Given the description of an element on the screen output the (x, y) to click on. 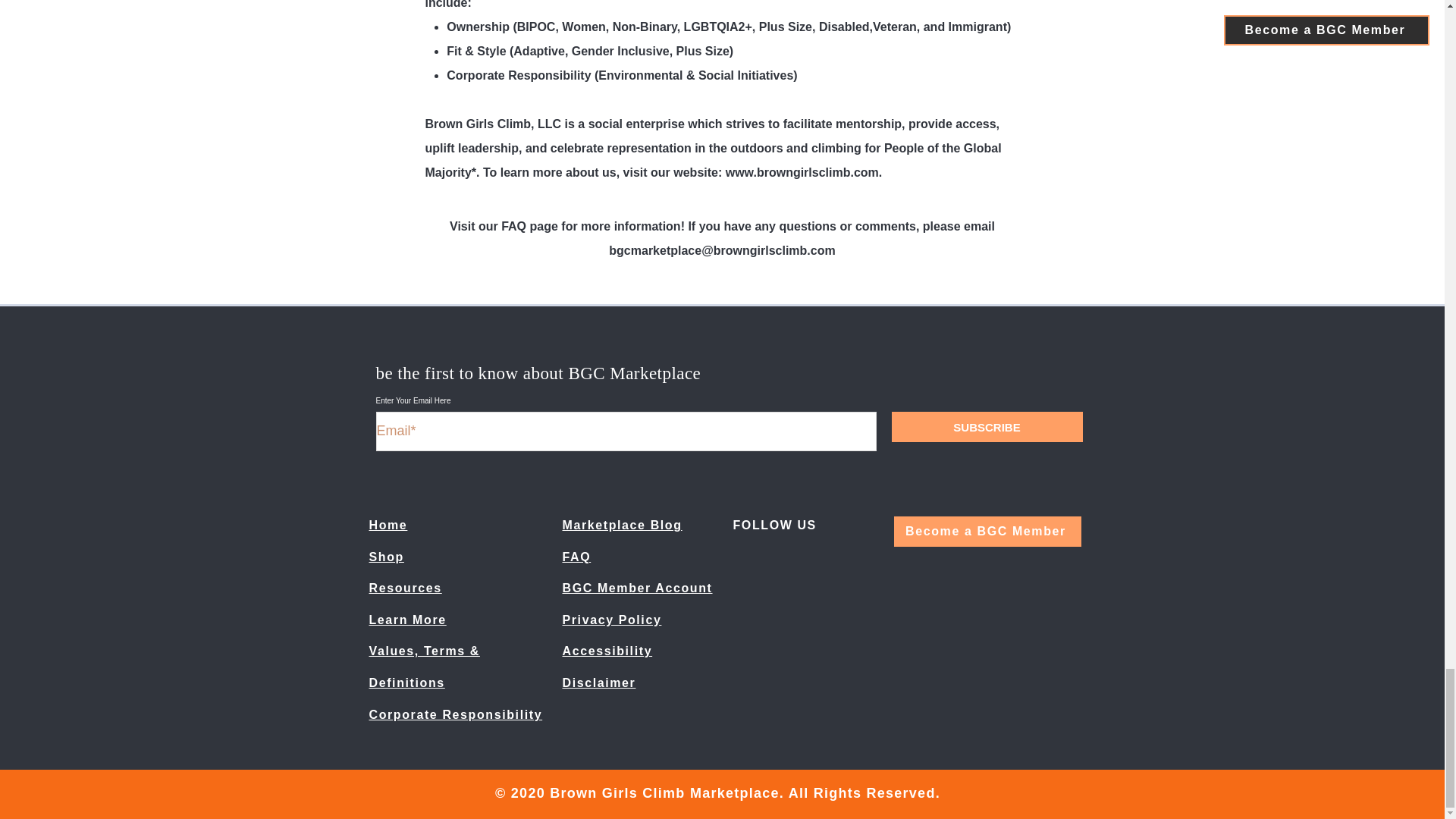
SUBSCRIBE (987, 426)
Marketplace Blog (622, 524)
FAQ page (528, 226)
FOLLOW US (773, 524)
www.browngirlsclimb.com (802, 172)
Privacy Policy (612, 619)
Home (387, 524)
Corporate Responsibility (454, 714)
FAQ (576, 556)
Learn More (406, 619)
